Given the description of an element on the screen output the (x, y) to click on. 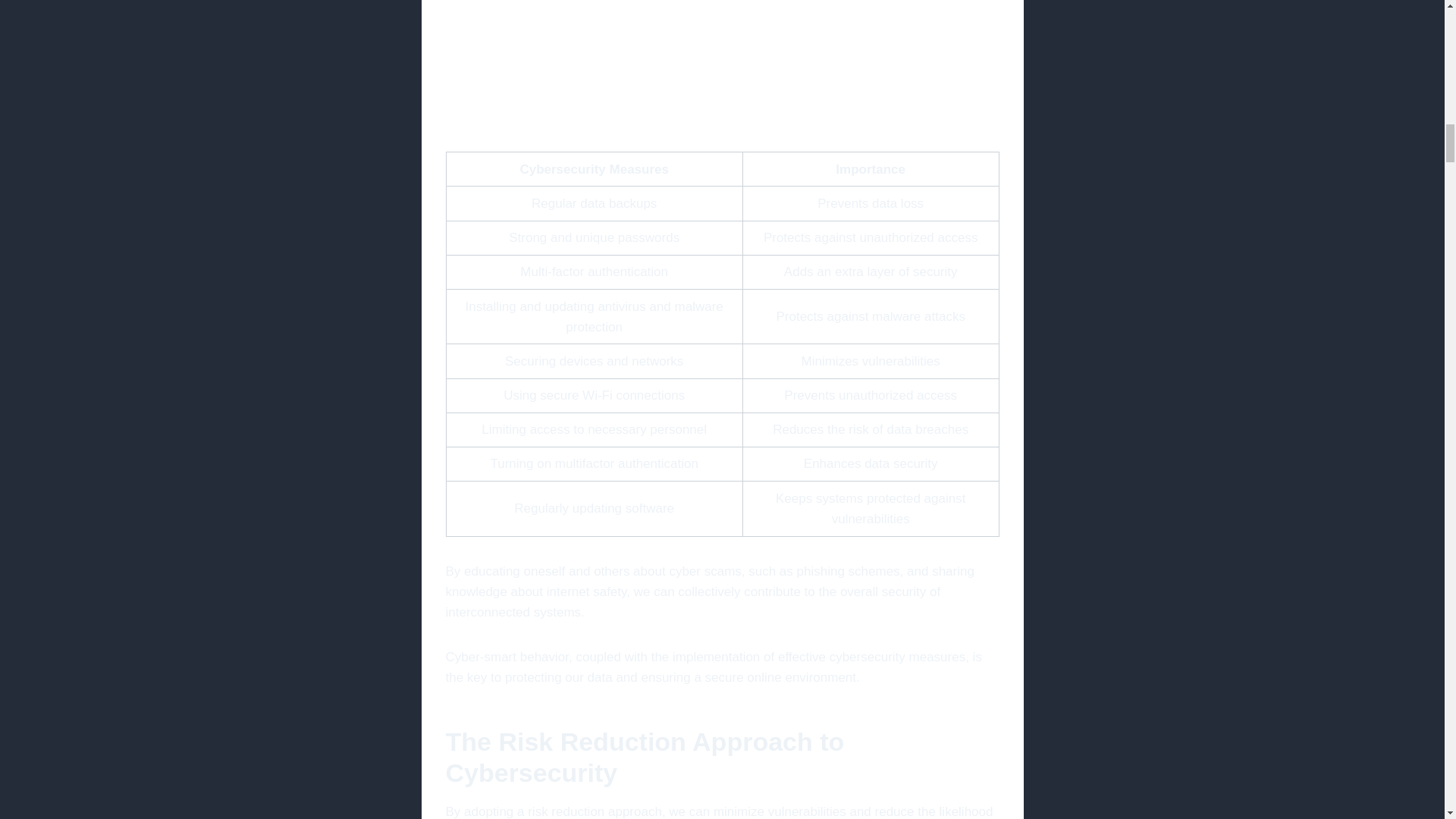
information security (721, 63)
